Given the description of an element on the screen output the (x, y) to click on. 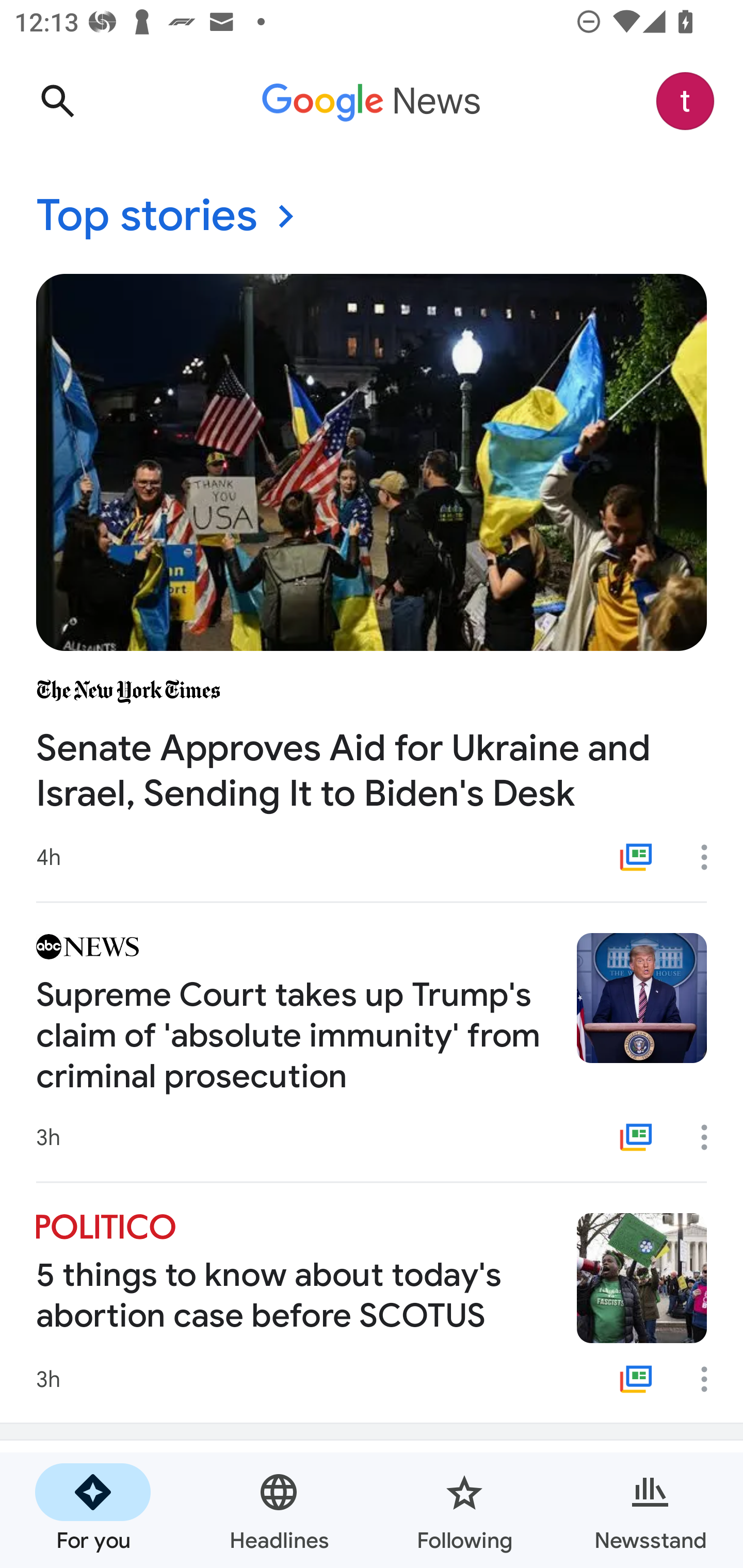
Search (57, 100)
Top stories (371, 216)
More options (711, 856)
More options (711, 1137)
More options (711, 1378)
For you (92, 1509)
Headlines (278, 1509)
Following (464, 1509)
Newsstand (650, 1509)
